Given the description of an element on the screen output the (x, y) to click on. 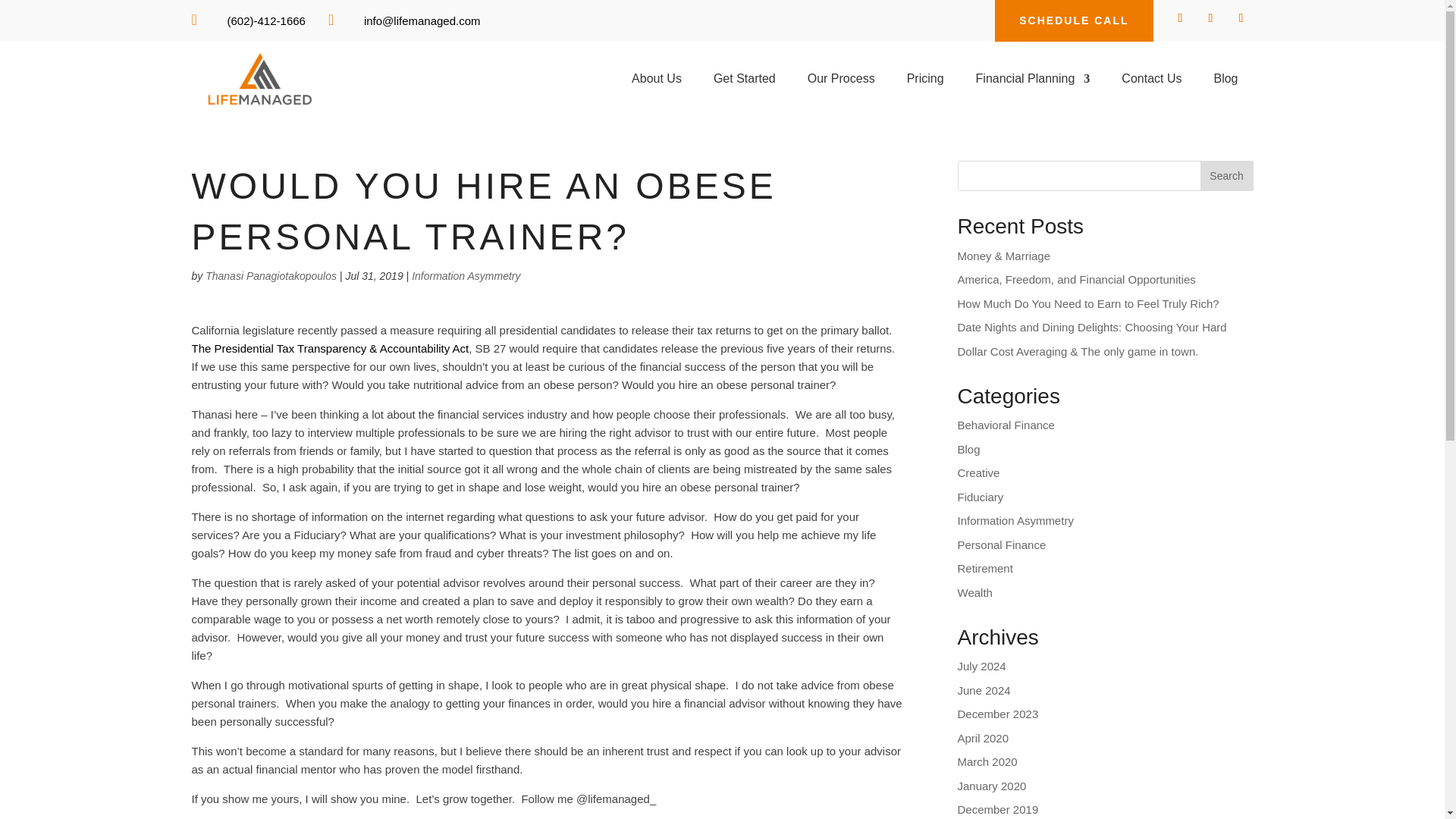
Blog (1224, 81)
Thanasi Panagiotakopoulos (270, 275)
Posts by Thanasi Panagiotakopoulos (270, 275)
Search (1225, 175)
Financial Planning (1032, 81)
lifemanaged-logo-sharp (259, 78)
Get Started (744, 81)
Contact Us (1150, 81)
About Us (656, 81)
Follow on Twitter (1210, 17)
Pricing (925, 81)
Follow on Facebook (1179, 17)
Information Asymmetry (465, 275)
Follow on Instagram (1240, 17)
SCHEDULE CALL (1073, 21)
